Given the description of an element on the screen output the (x, y) to click on. 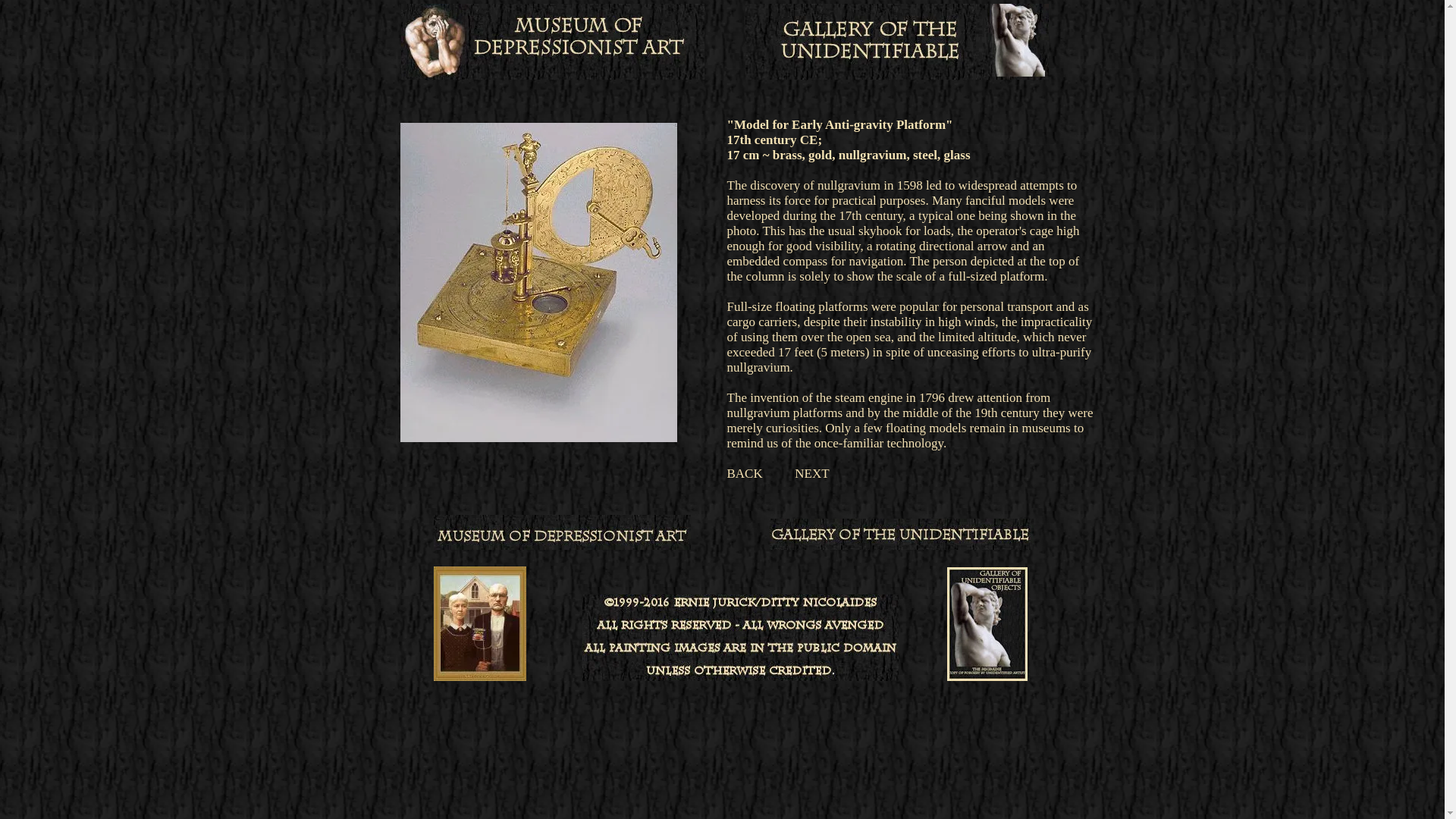
BACK (743, 473)
NEXT (811, 473)
gallery header.jpg (896, 41)
